Given the description of an element on the screen output the (x, y) to click on. 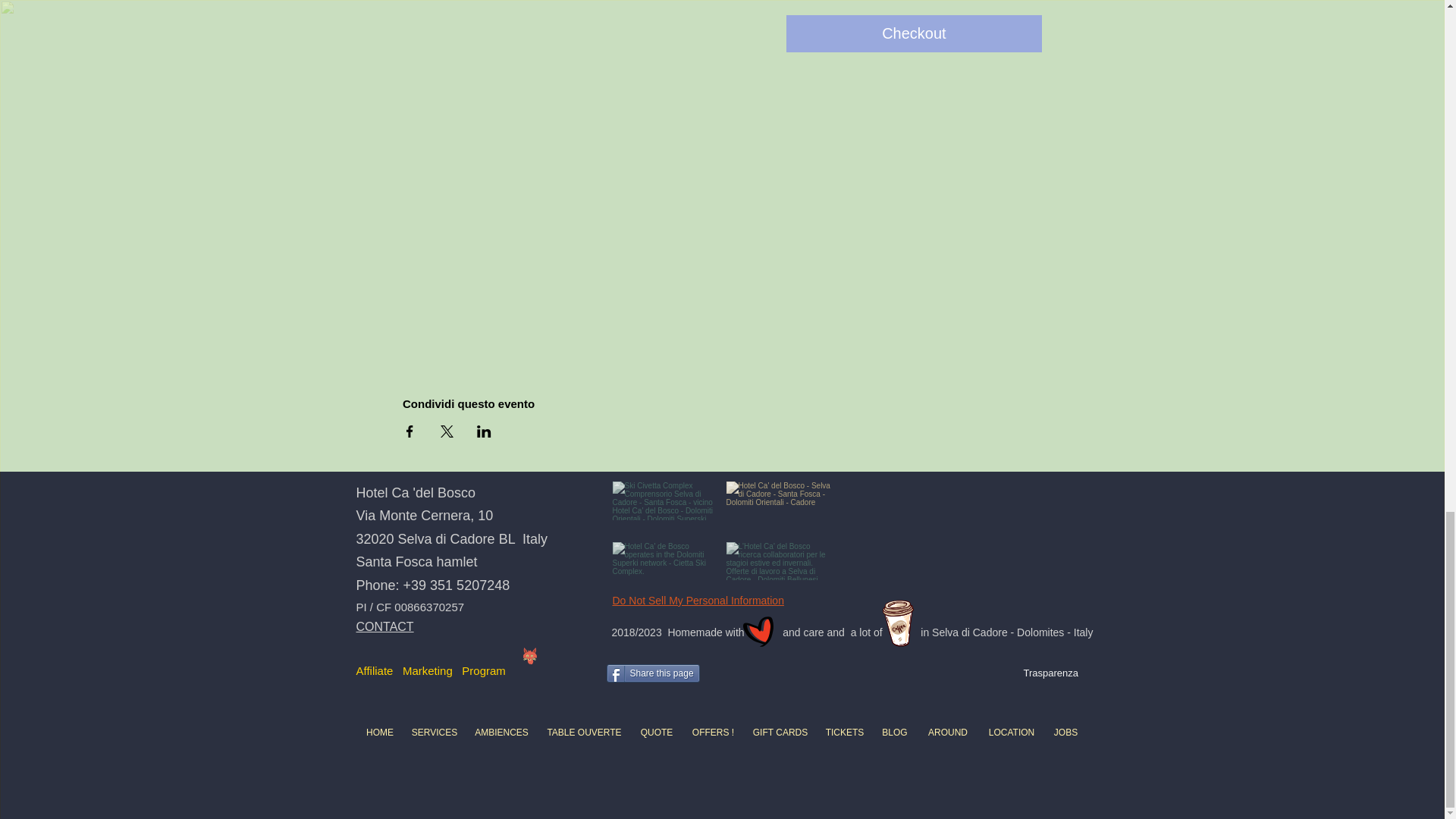
Share this page (653, 673)
 The Dolomites UNESCO World Heritage Site (779, 500)
CONTACT (384, 626)
Affiliate   Marketing   Program (430, 670)
Checkout (914, 33)
